Given the description of an element on the screen output the (x, y) to click on. 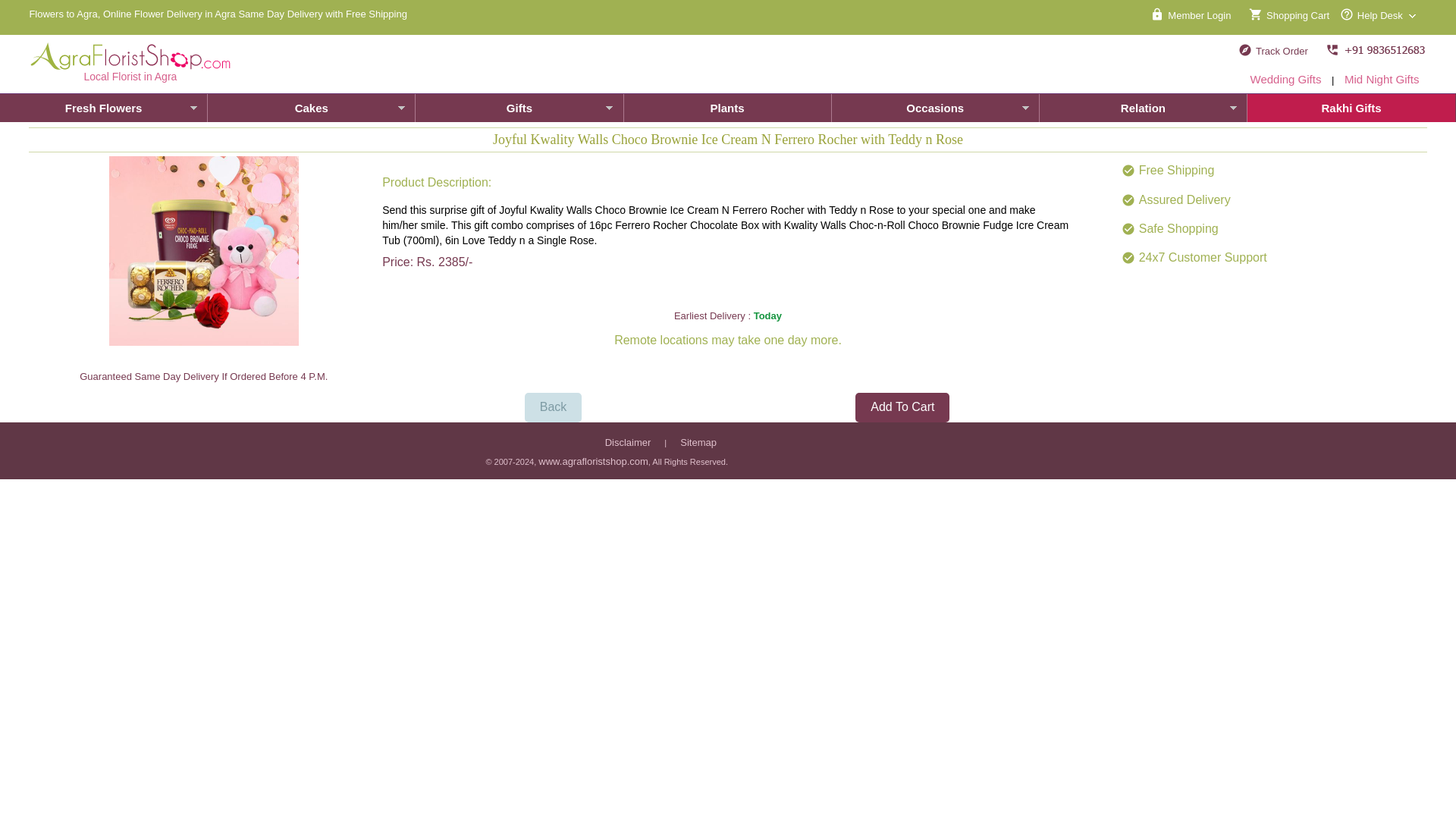
Wedding Gifts (1285, 78)
Cakes (311, 108)
Mid Night Gifts (1381, 78)
Track Order (1272, 50)
Shopping Cart (1286, 14)
Local Florist in Agra (130, 62)
Gifts (518, 108)
Fresh Flowers (104, 108)
Order Status (1272, 50)
Wedding Gifts (1285, 78)
Help Desk (1379, 14)
Members Login (1190, 14)
Member Login (1190, 14)
Shopping Cart (1286, 14)
